Given the description of an element on the screen output the (x, y) to click on. 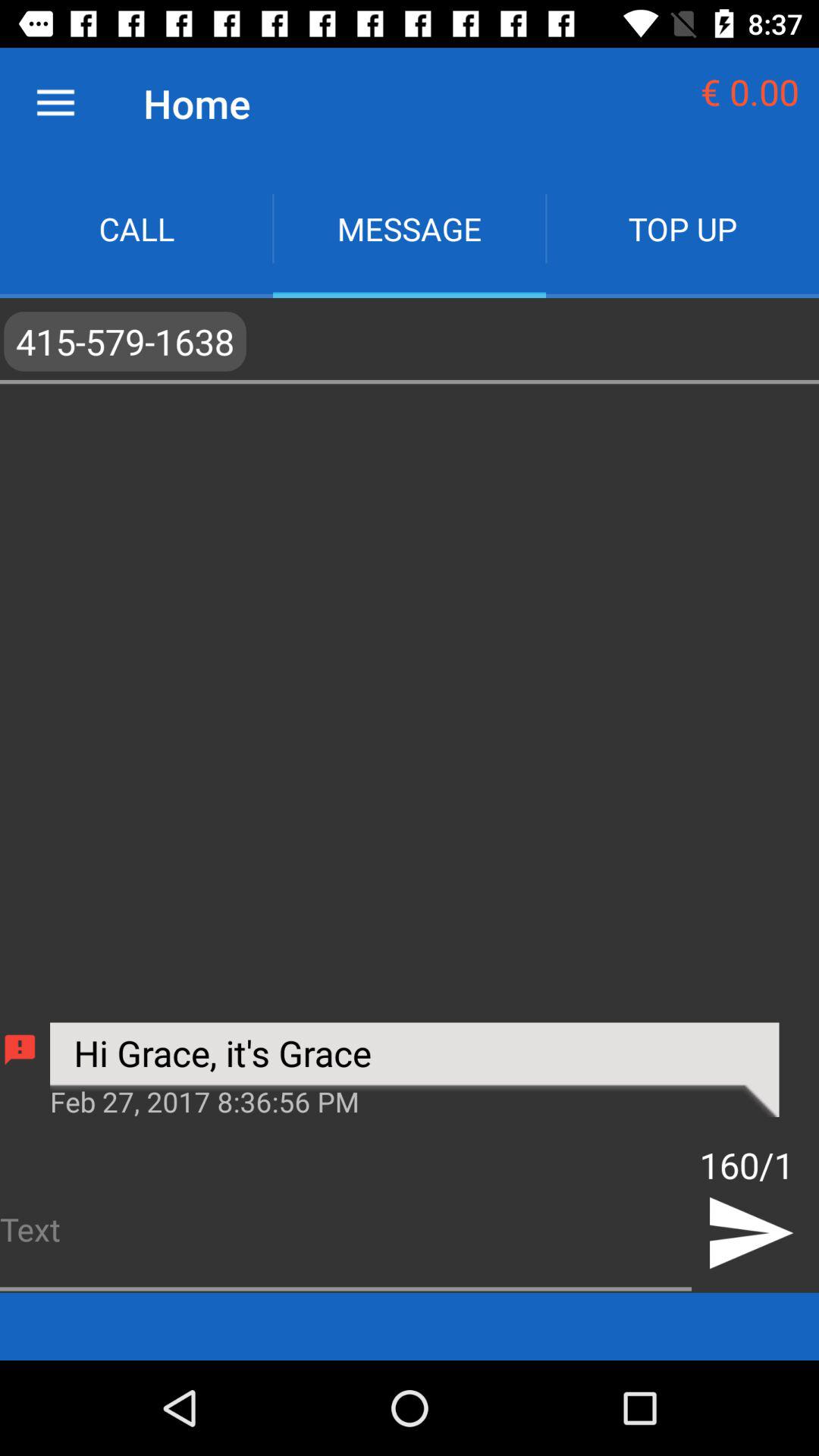
select item next to the home item (55, 103)
